Given the description of an element on the screen output the (x, y) to click on. 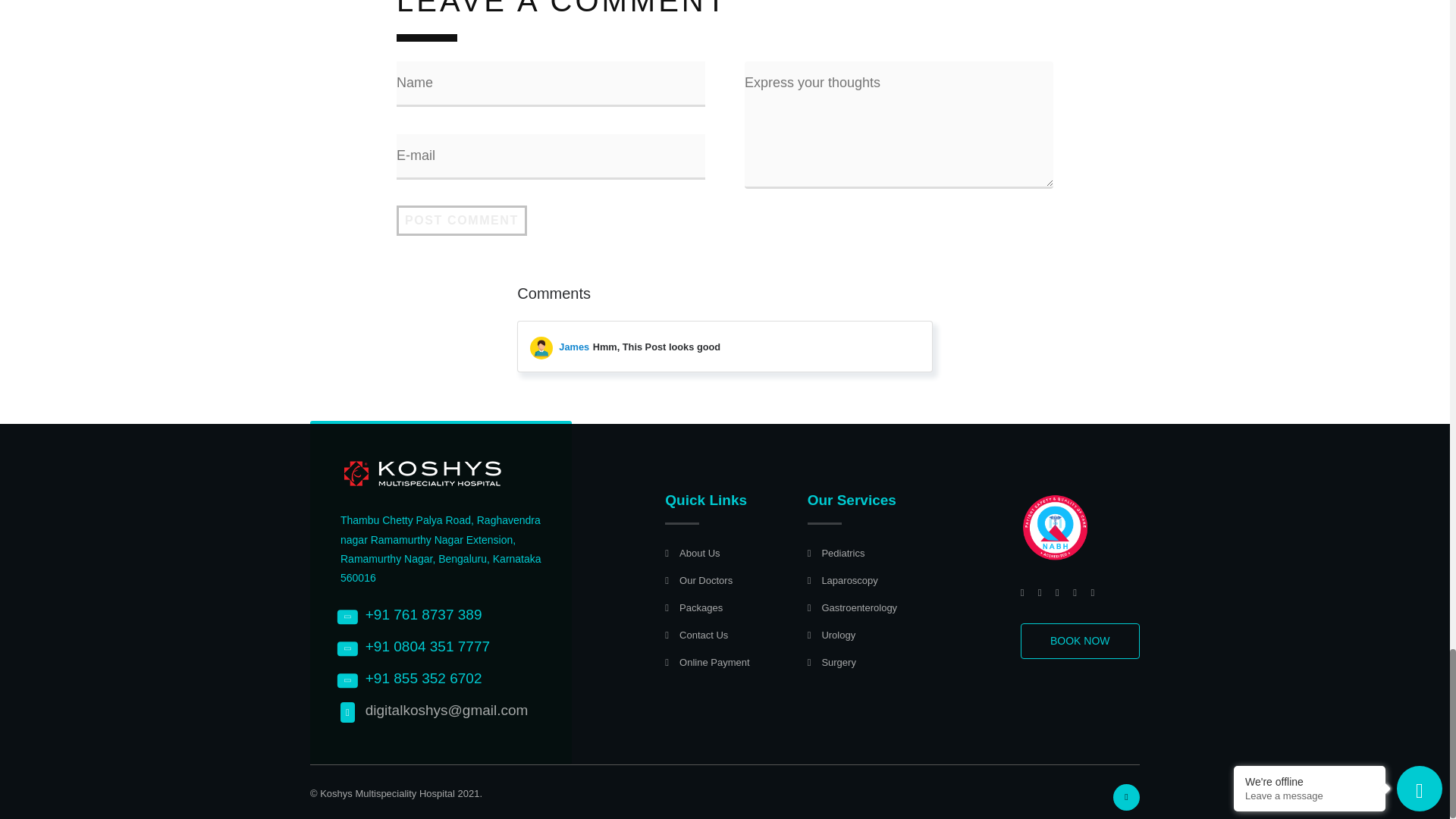
Post Comment (461, 220)
